Given the description of an element on the screen output the (x, y) to click on. 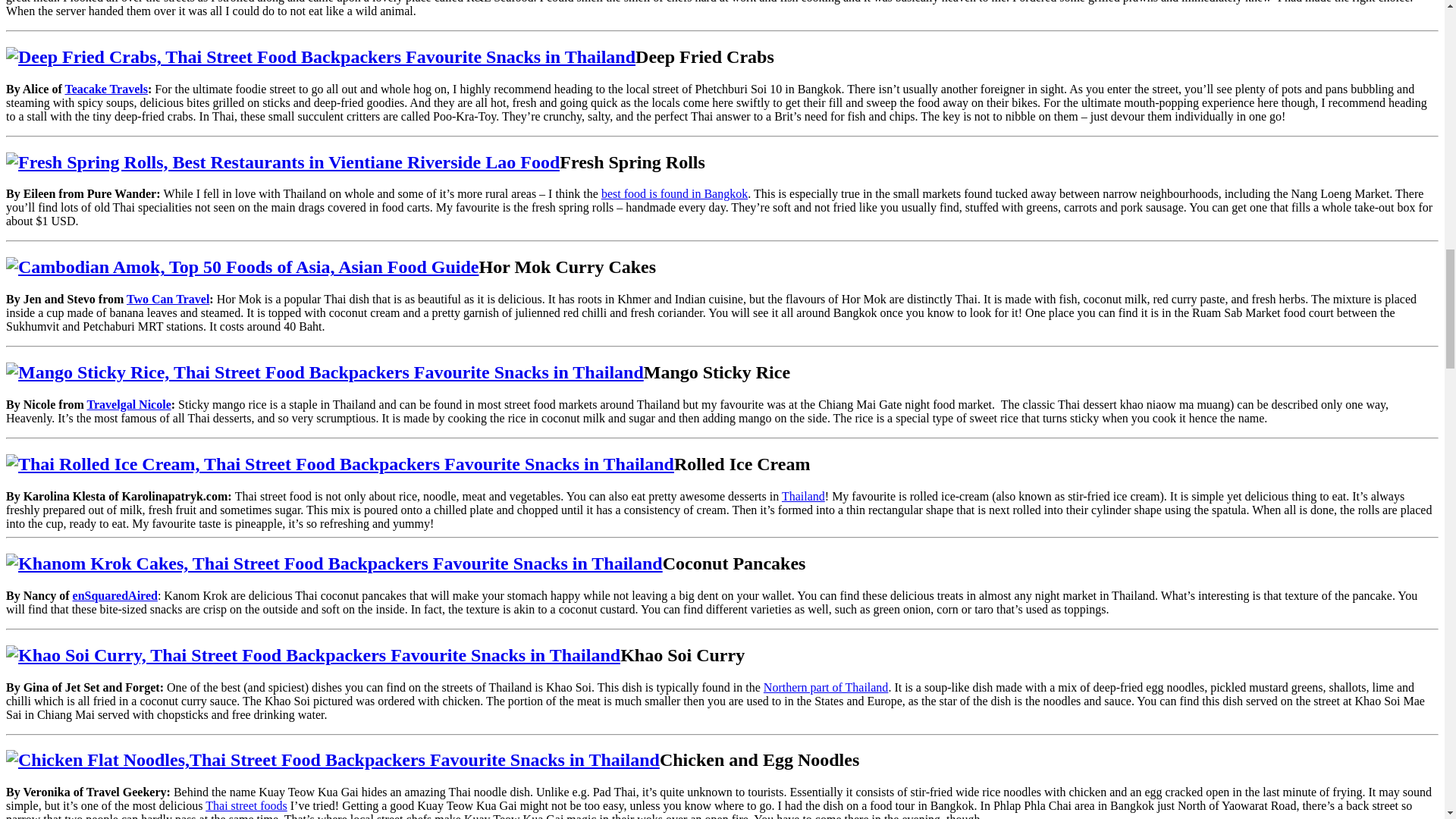
Two Can Travel (167, 298)
best food is found in Bangkok (674, 193)
Teacake Travels (105, 88)
Thailand (803, 495)
Travelgal Nicole (127, 404)
